Given the description of an element on the screen output the (x, y) to click on. 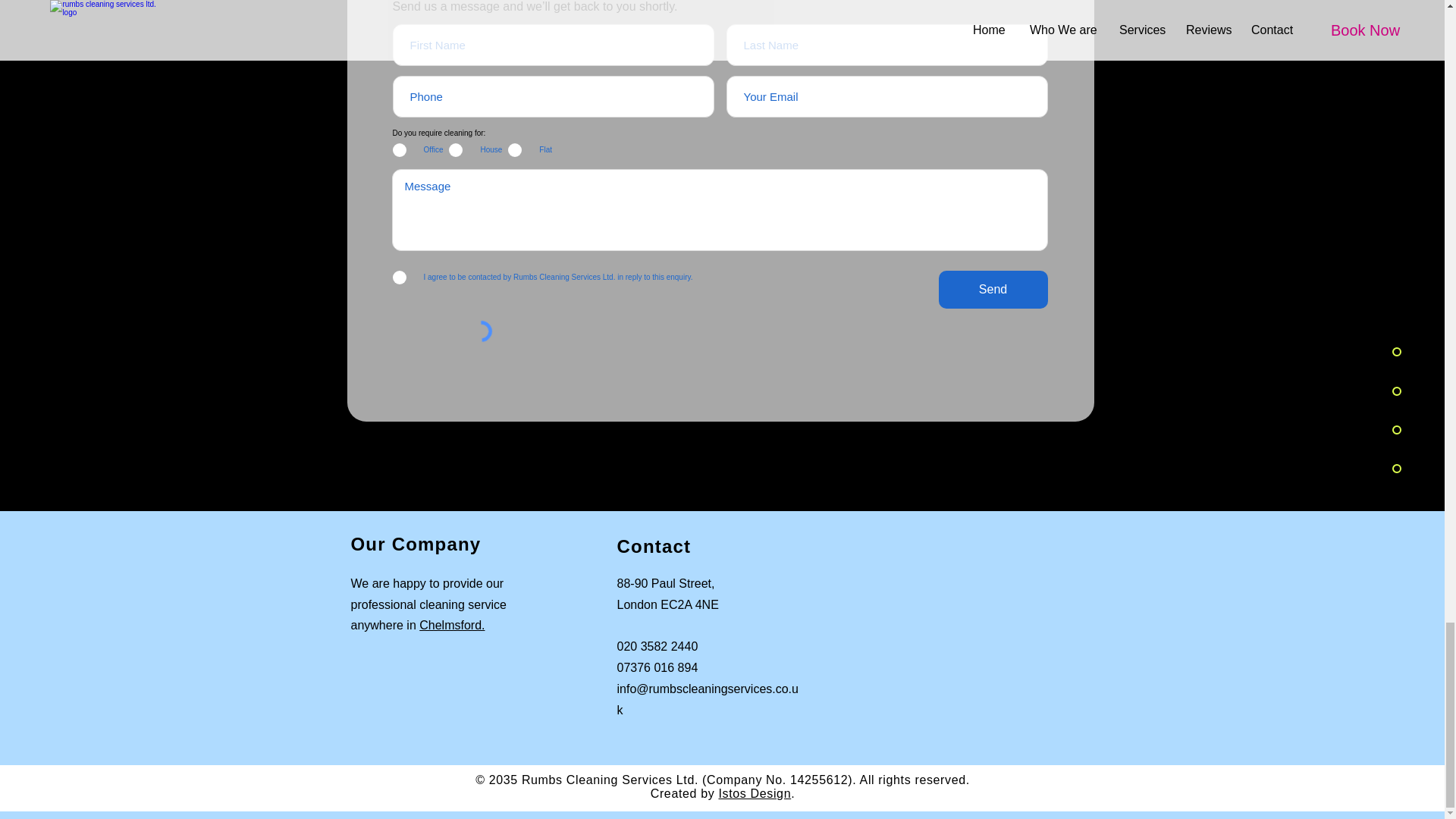
Istos Design (753, 793)
Send (993, 289)
